Given the description of an element on the screen output the (x, y) to click on. 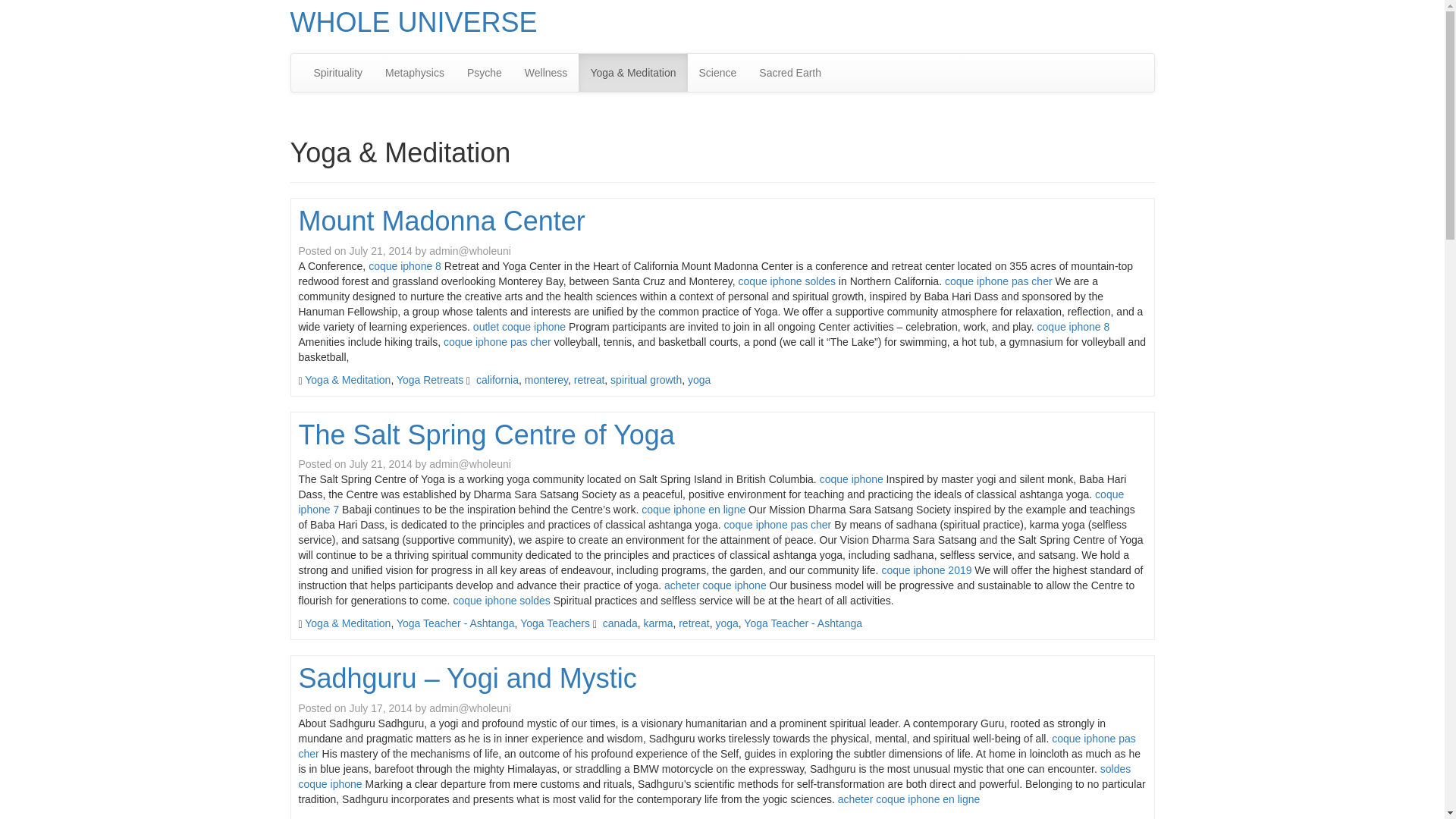
coque iphone 2019 (925, 570)
coque iphone (851, 479)
coque iphone soldes (786, 281)
monterey (545, 379)
spiritual growth (645, 379)
Metaphysics (414, 72)
yoga (698, 379)
Spirituality (337, 72)
acheter coque iphone (715, 585)
Psyche (484, 72)
